Given the description of an element on the screen output the (x, y) to click on. 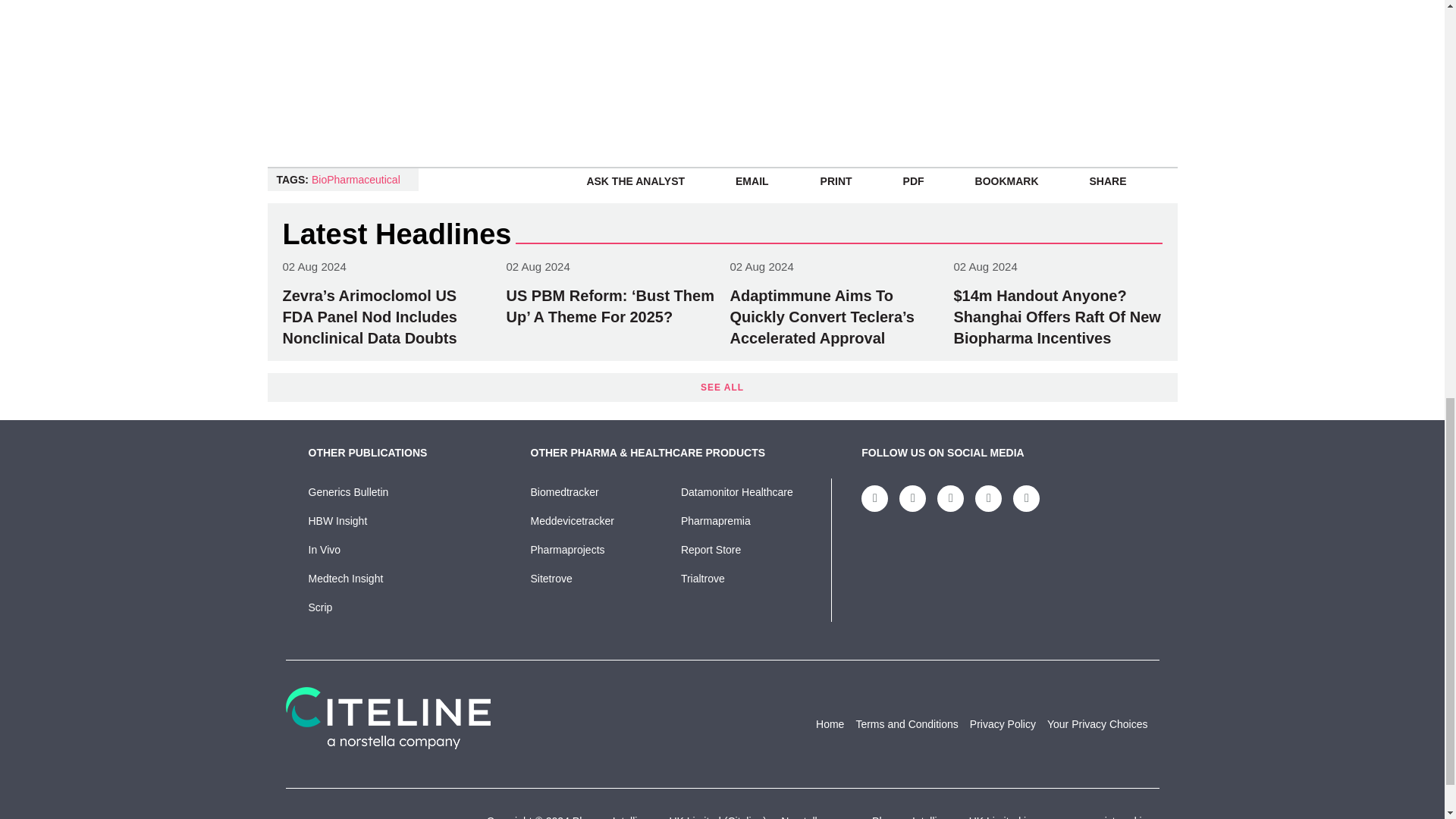
3rd party ad content (1070, 65)
3rd party ad content (567, 21)
